Given the description of an element on the screen output the (x, y) to click on. 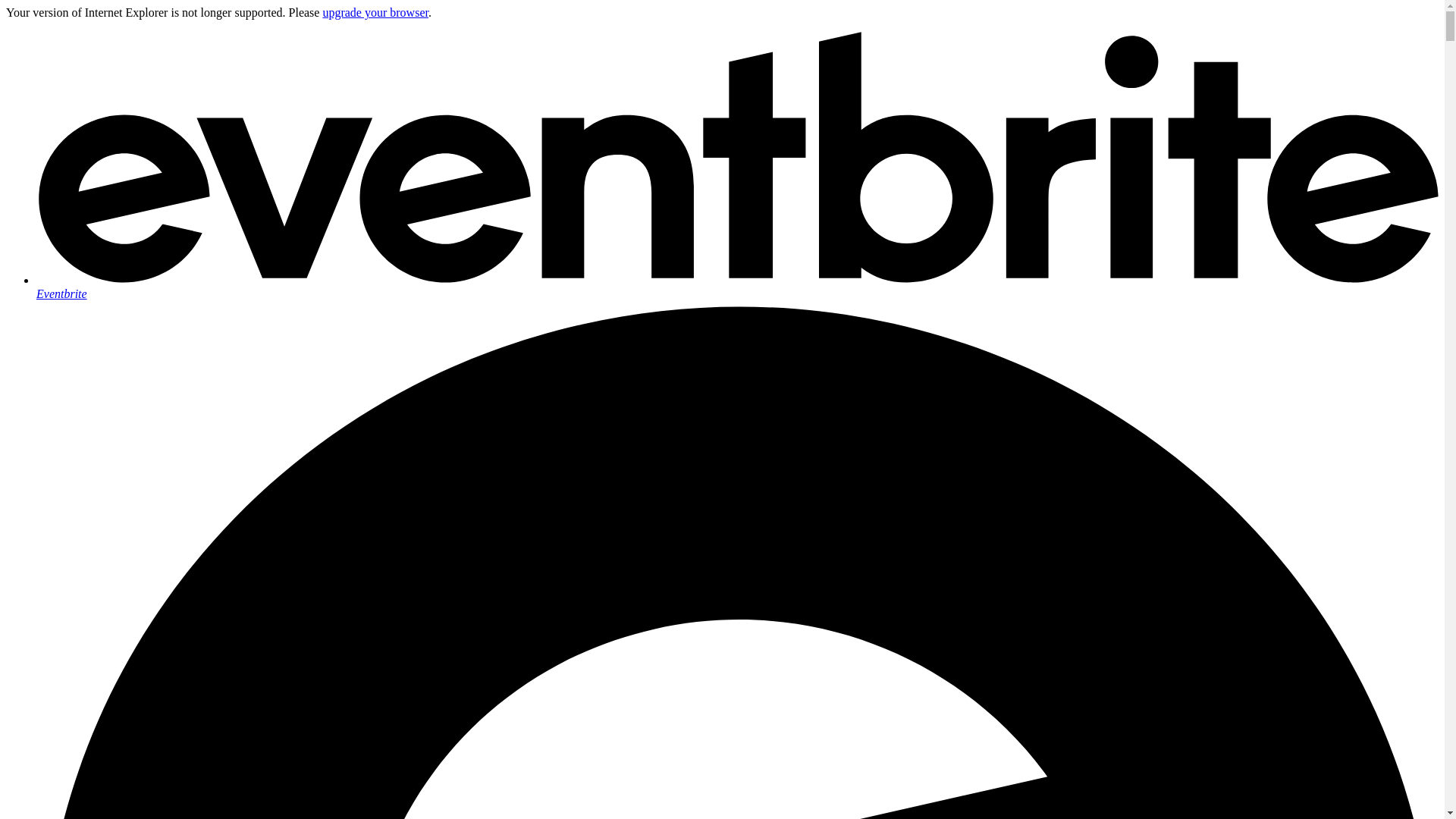
upgrade your browser Element type: text (375, 12)
Eventbrite Element type: text (737, 286)
